Given the description of an element on the screen output the (x, y) to click on. 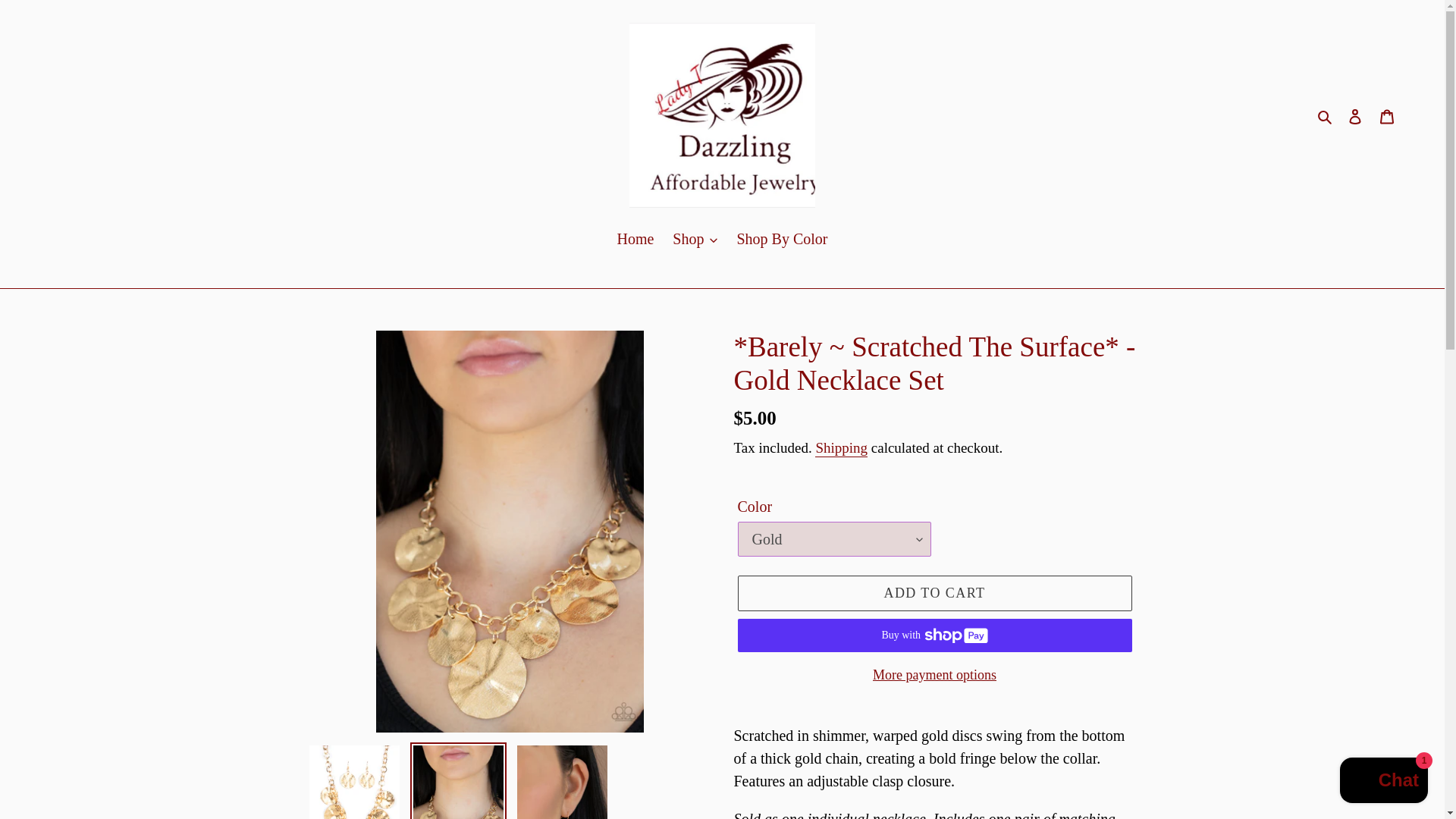
Shop By Color (781, 239)
Shop (695, 239)
Home (634, 239)
Search (1326, 115)
Shopify online store chat (1383, 781)
